Given the description of an element on the screen output the (x, y) to click on. 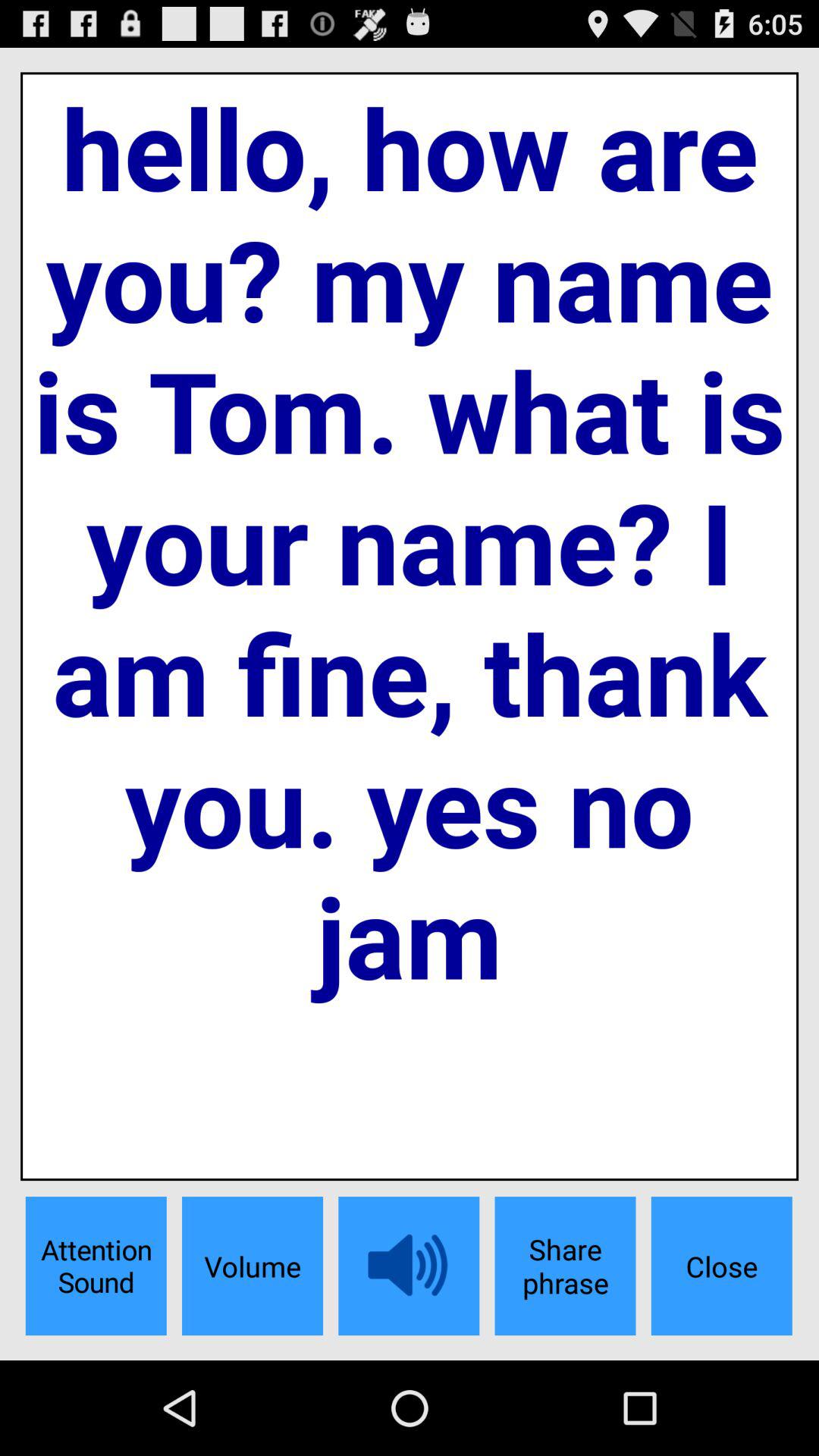
launch button next to the attention sound button (252, 1265)
